Given the description of an element on the screen output the (x, y) to click on. 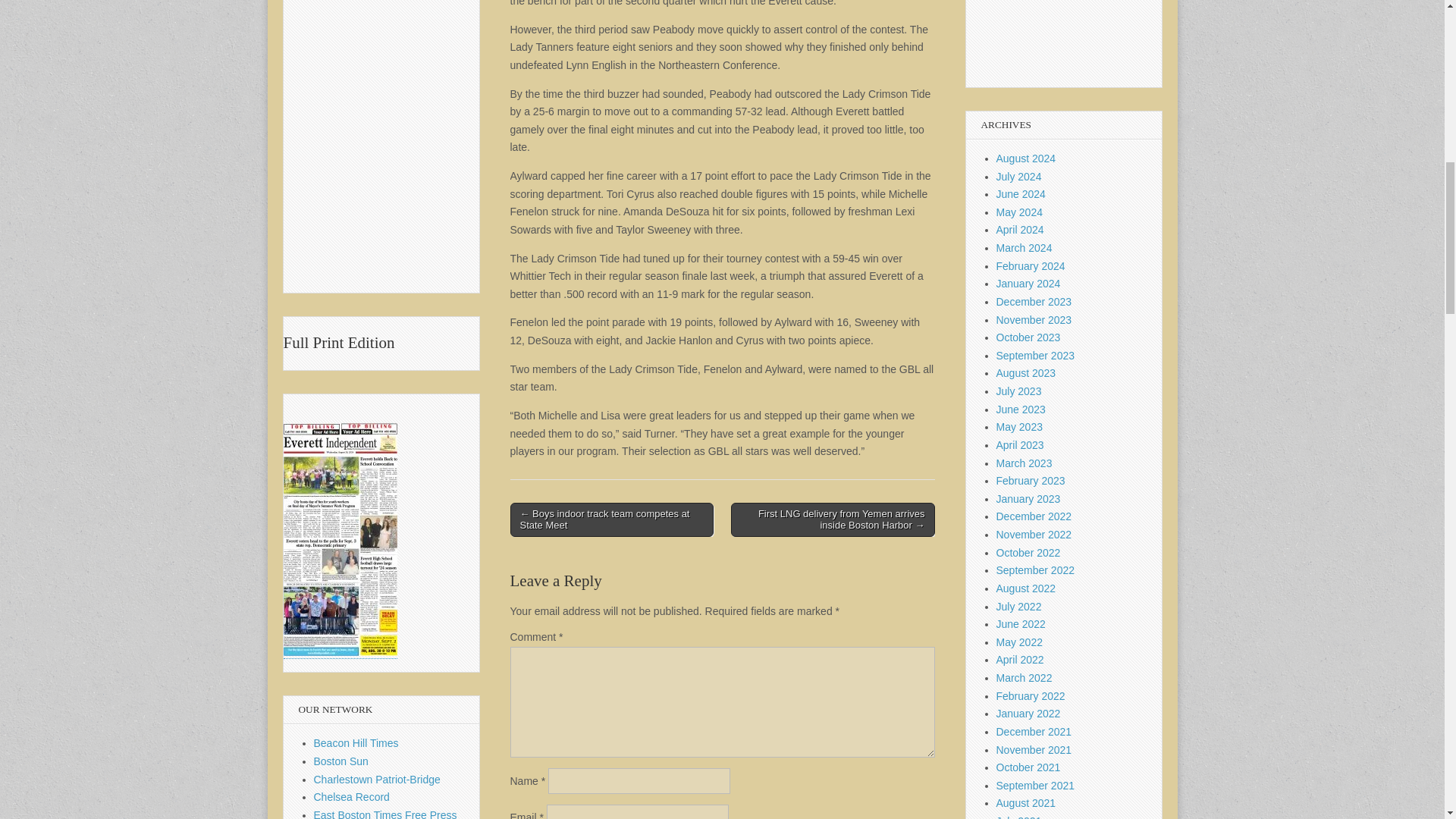
Charlestown Patriot-Bridge (377, 779)
Beacon Hill Times (356, 743)
Boston Sun (341, 761)
Chelsea Record (352, 797)
East Boston Times Free Press (385, 814)
